Given the description of an element on the screen output the (x, y) to click on. 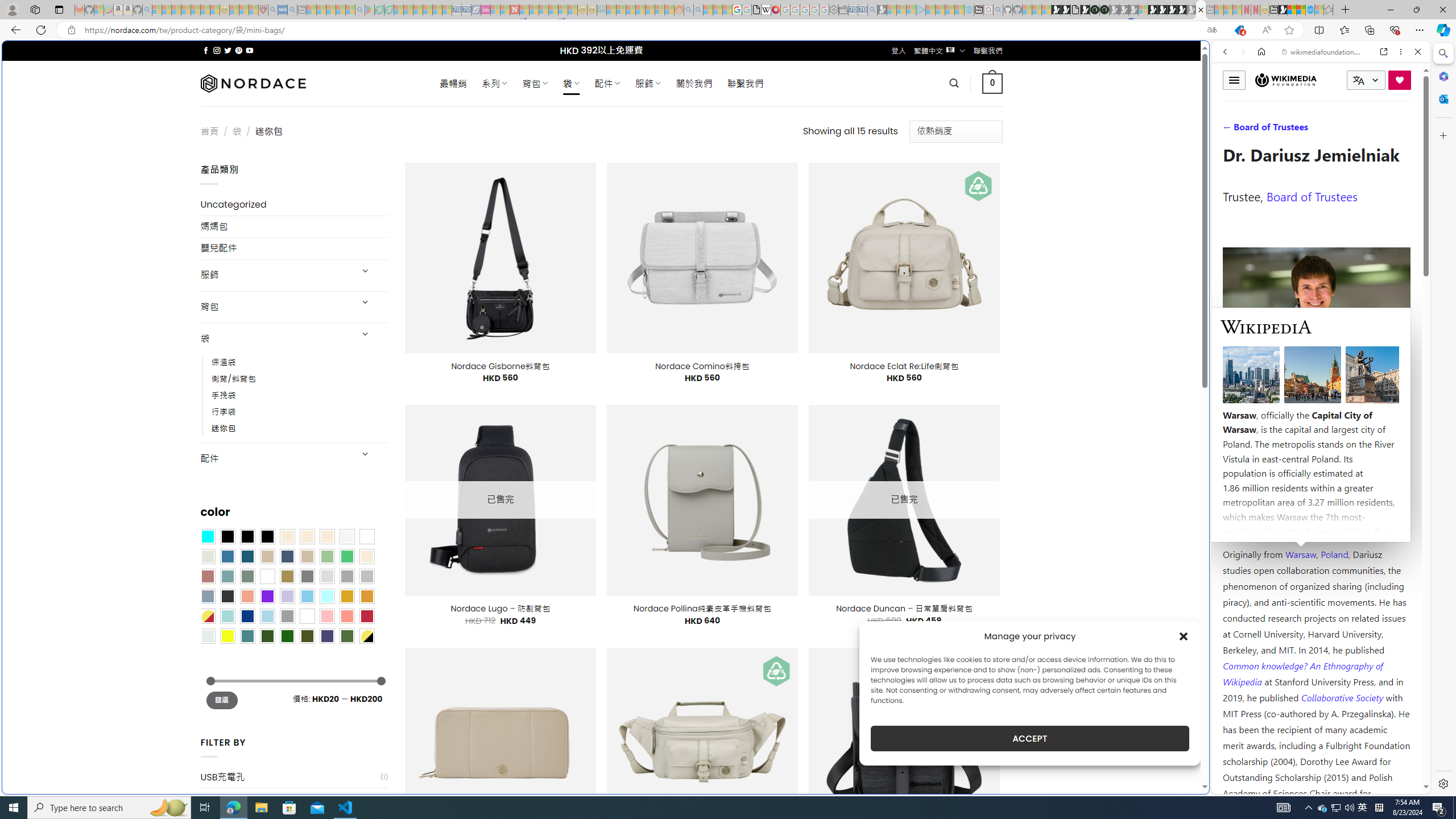
Dull Nickle (207, 635)
Cheap Car Rentals - Save70.com - Sleeping (862, 9)
Collaborative Society  (1343, 697)
Settings - Sleeping (833, 9)
